Given the description of an element on the screen output the (x, y) to click on. 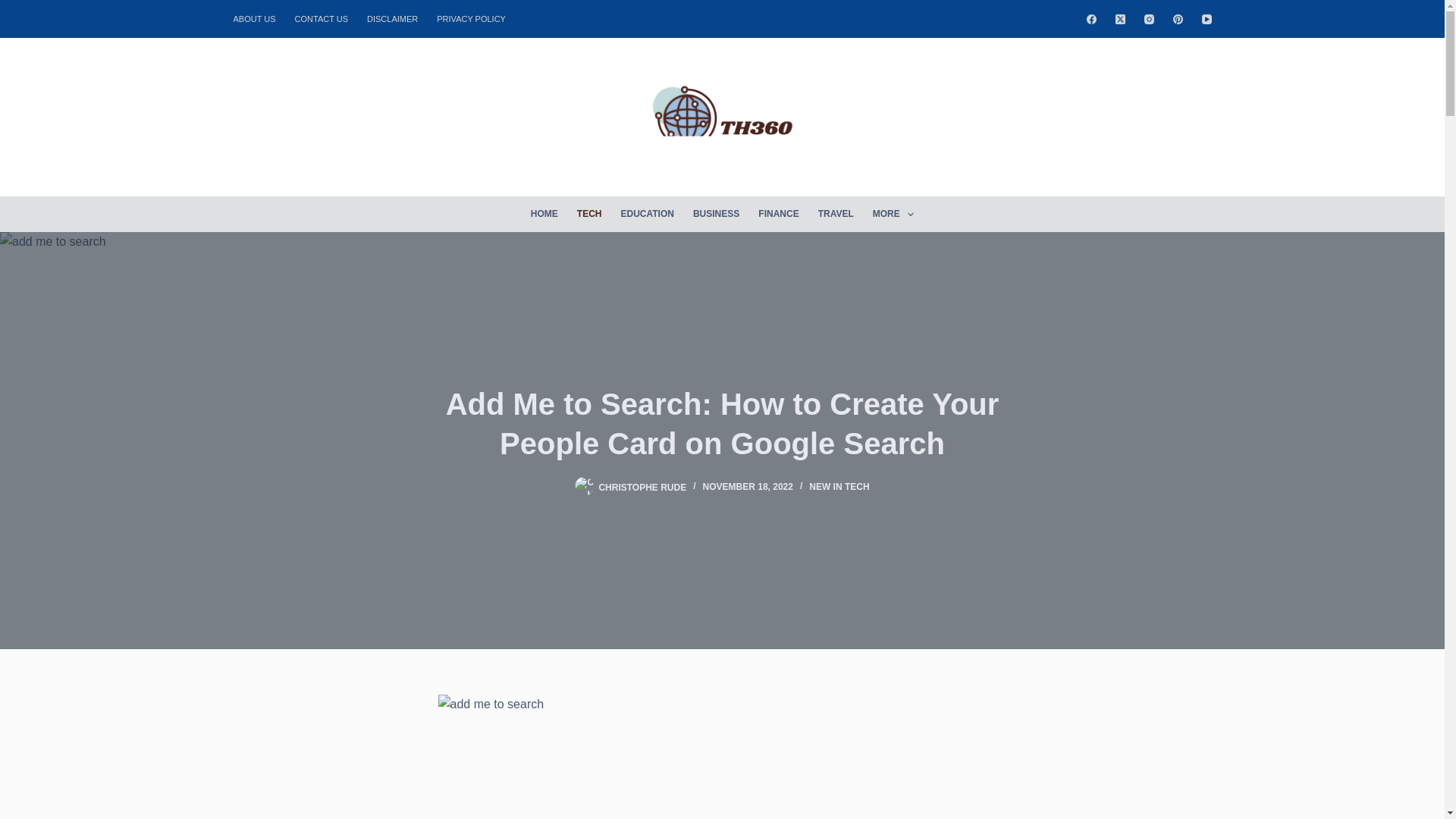
TECH (589, 213)
MORE (893, 213)
FINANCE (778, 213)
ABOUT US (258, 18)
DISCLAIMER (393, 18)
Skip to content (15, 7)
TRAVEL (835, 213)
CONTACT US (321, 18)
HOME (544, 213)
